Given the description of an element on the screen output the (x, y) to click on. 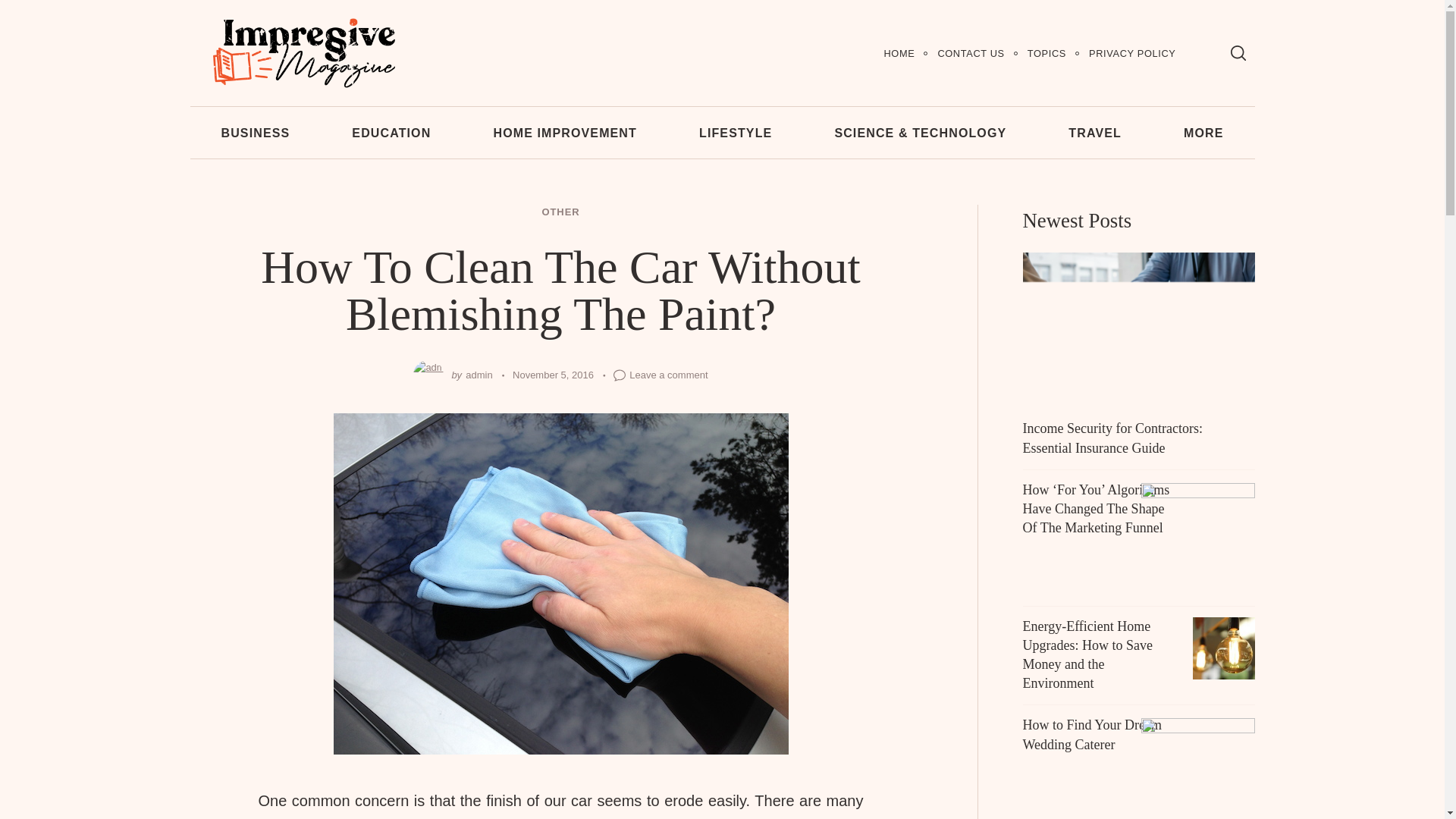
OTHER (560, 212)
Leave a comment (667, 374)
BUSINESS (254, 132)
TRAVEL (1094, 132)
admin (478, 374)
PRIVACY POLICY (1131, 52)
EDUCATION (390, 132)
MORE (1204, 132)
HOME IMPROVEMENT (564, 132)
LIFESTYLE (735, 132)
